Given the description of an element on the screen output the (x, y) to click on. 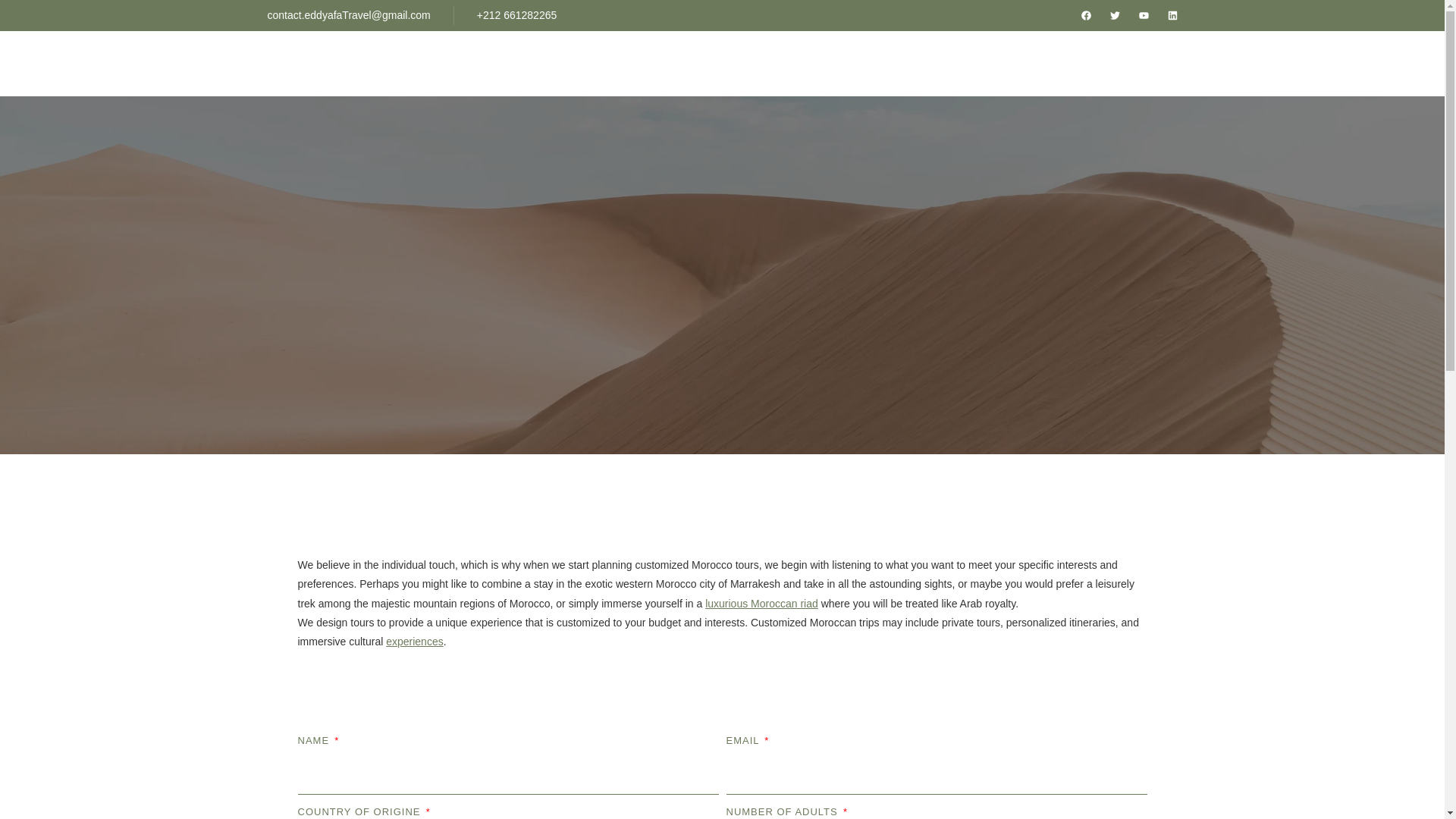
luxurious Moroccan riad (761, 603)
TAILOR MADE (1115, 63)
experiences (414, 641)
TAILOR MADE (1115, 63)
